Given the description of an element on the screen output the (x, y) to click on. 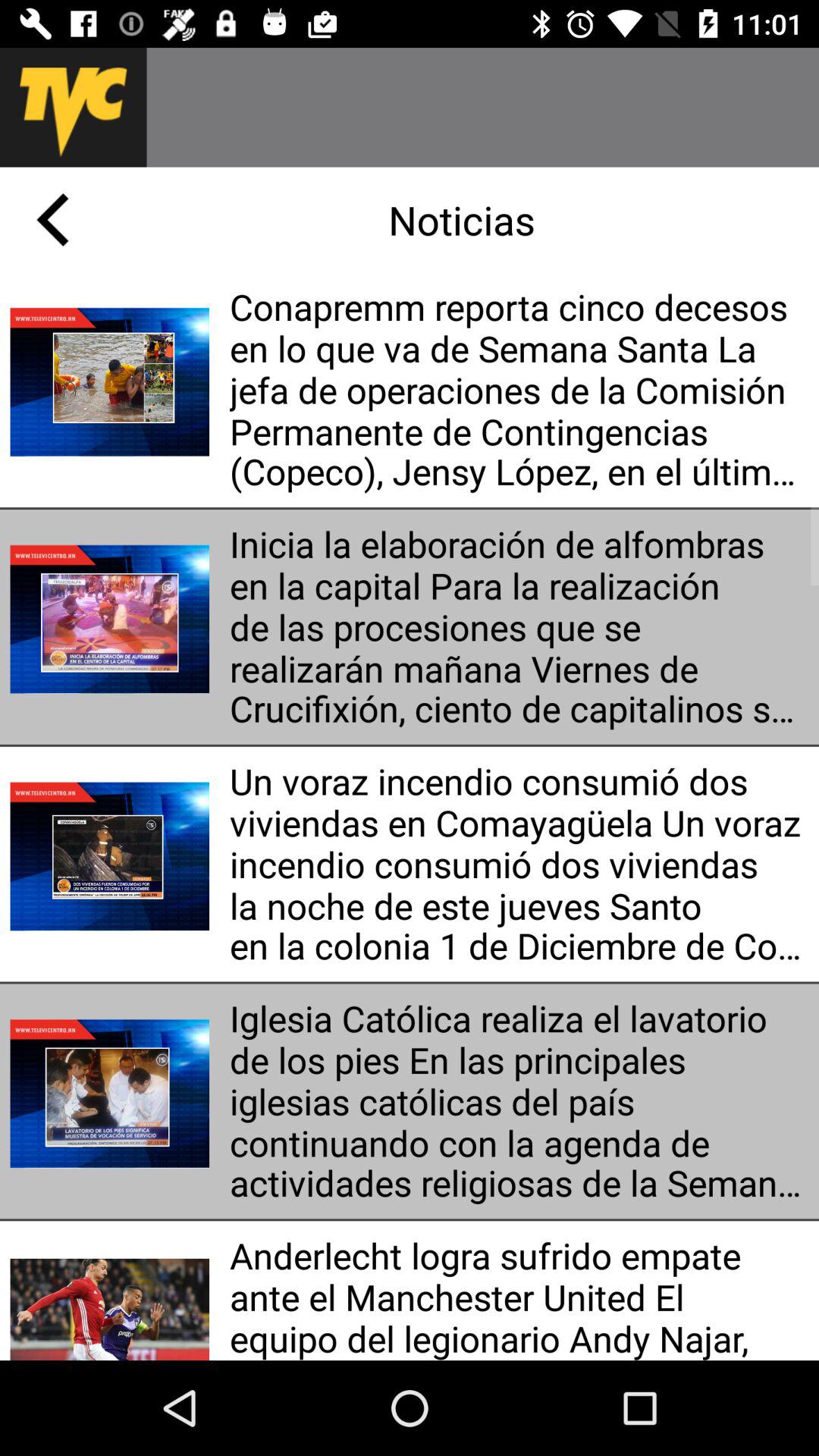
press the un voraz incendio app (518, 864)
